Given the description of an element on the screen output the (x, y) to click on. 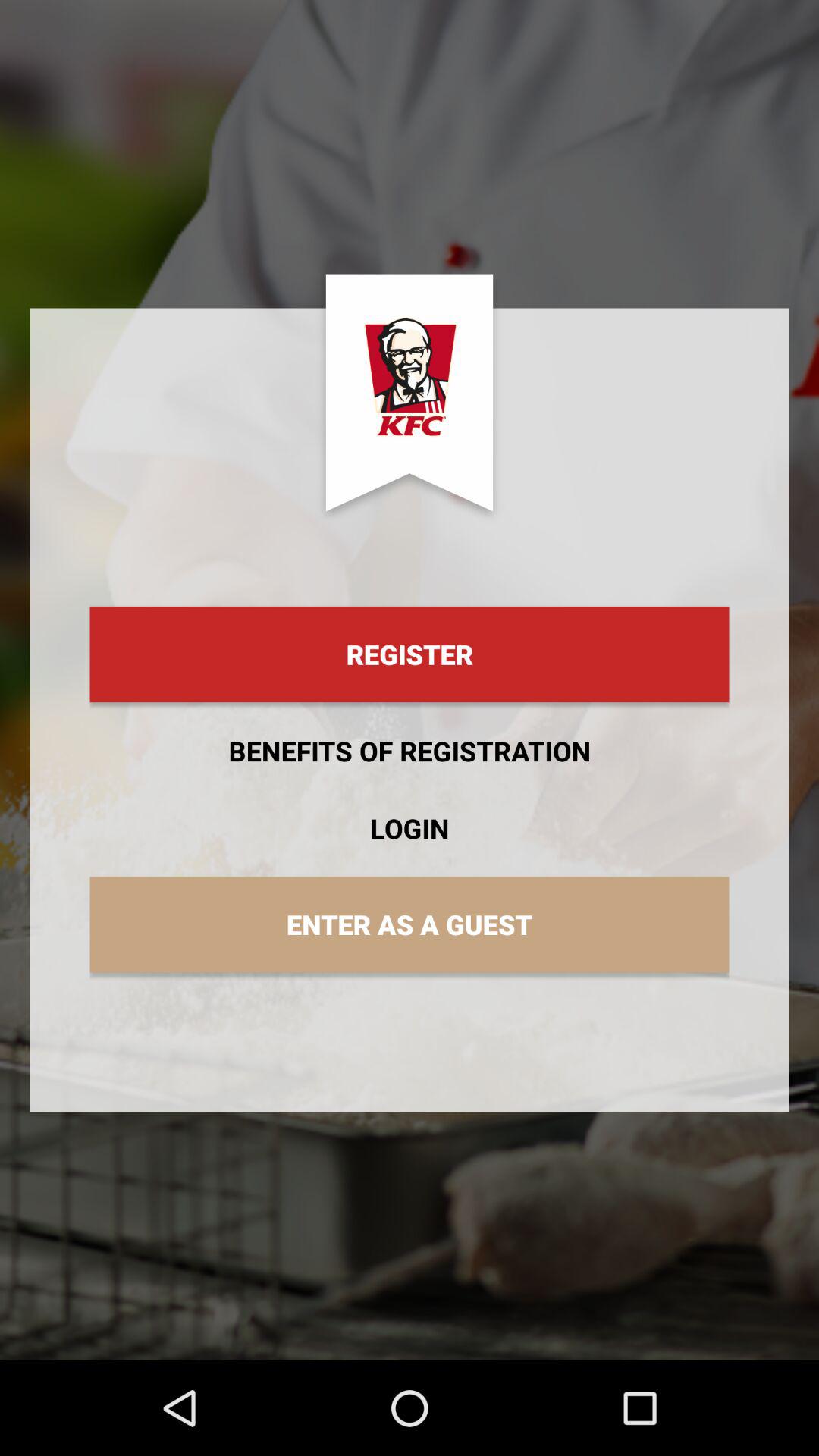
turn off app below the login (409, 924)
